Given the description of an element on the screen output the (x, y) to click on. 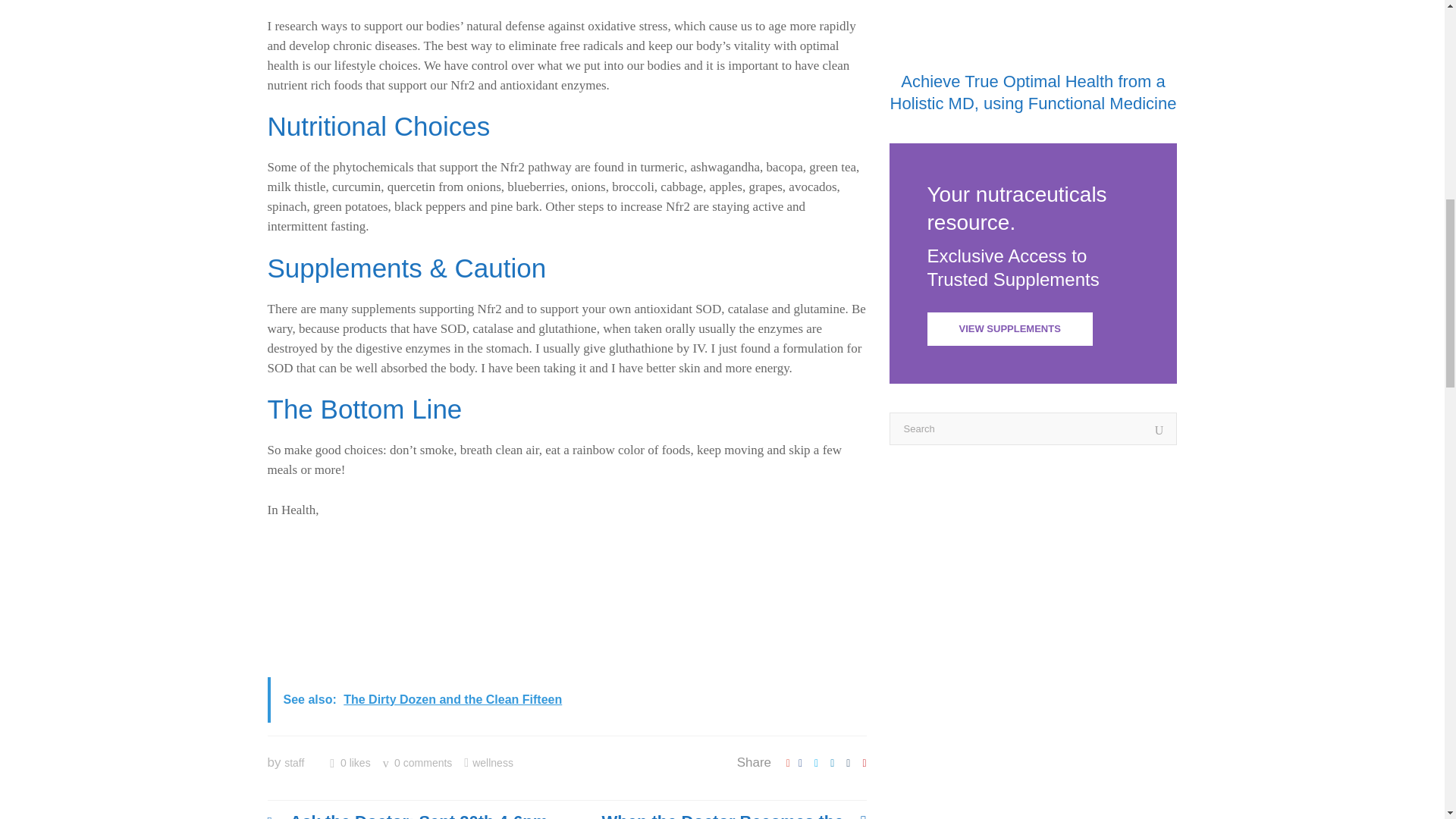
View Supplements (1009, 328)
U (1158, 430)
Like this (350, 762)
